Given the description of an element on the screen output the (x, y) to click on. 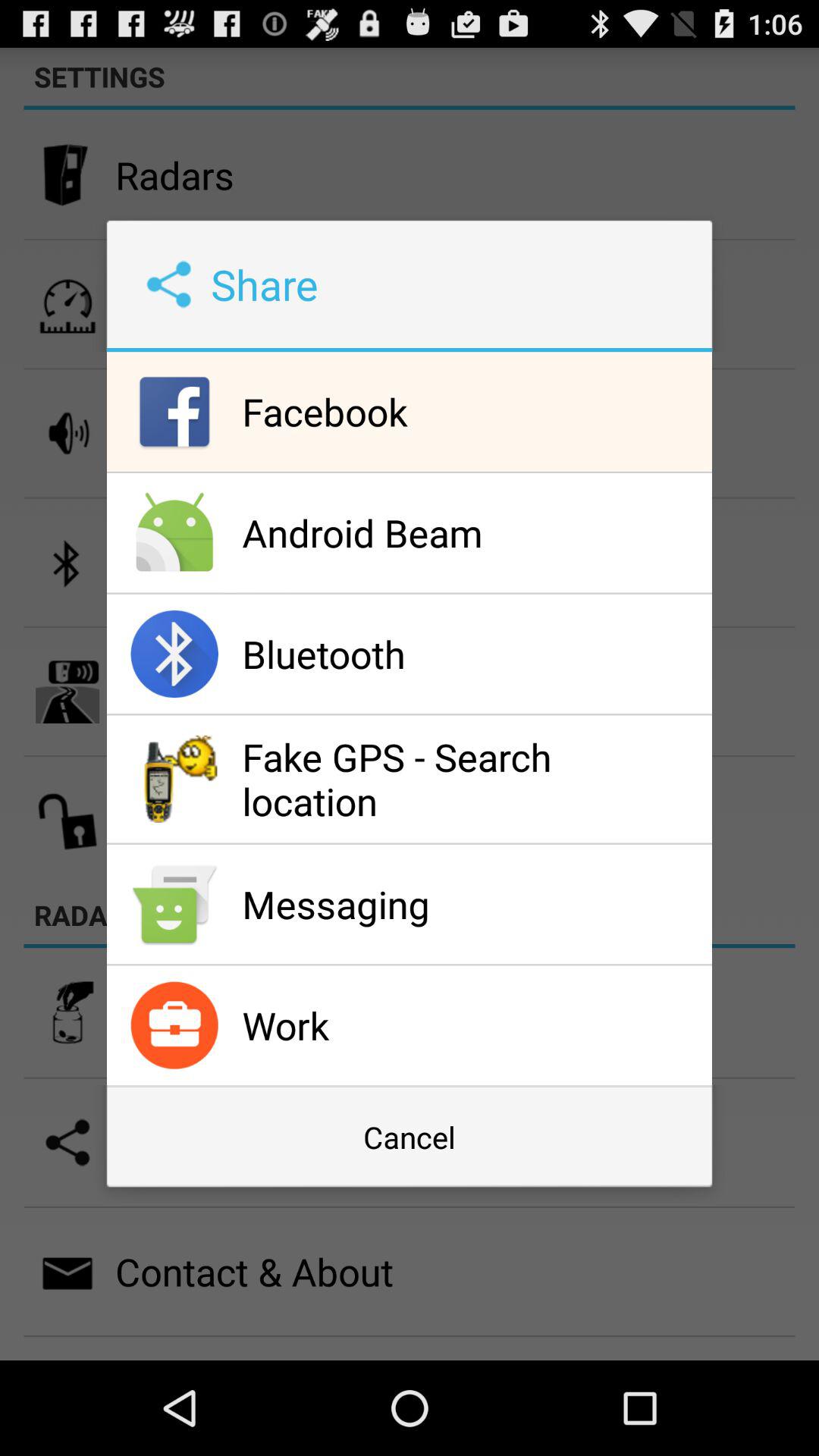
swipe until bluetooth (473, 653)
